Given the description of an element on the screen output the (x, y) to click on. 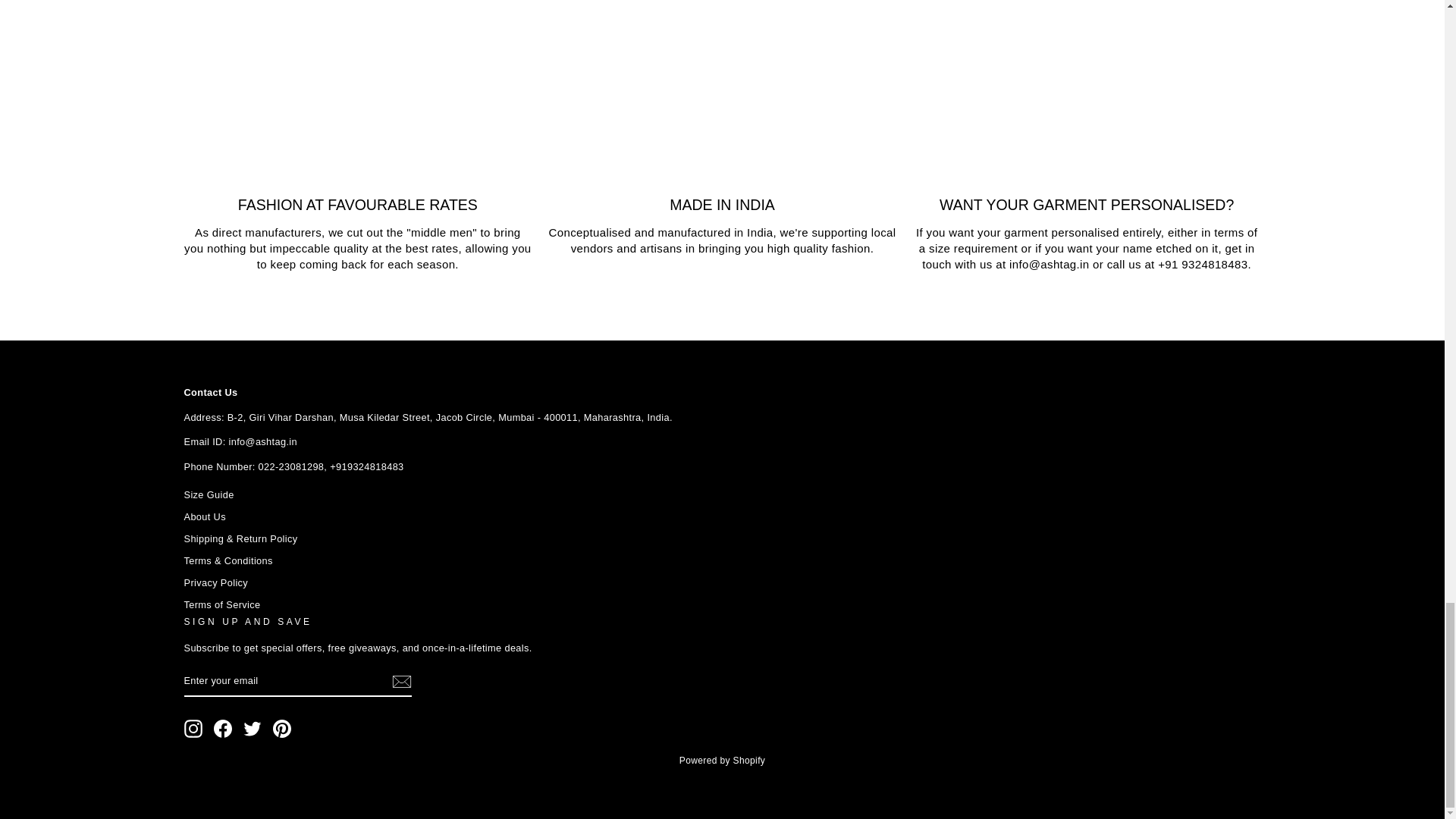
icon-email (400, 681)
twitter (251, 728)
instagram (192, 728)
